Given the description of an element on the screen output the (x, y) to click on. 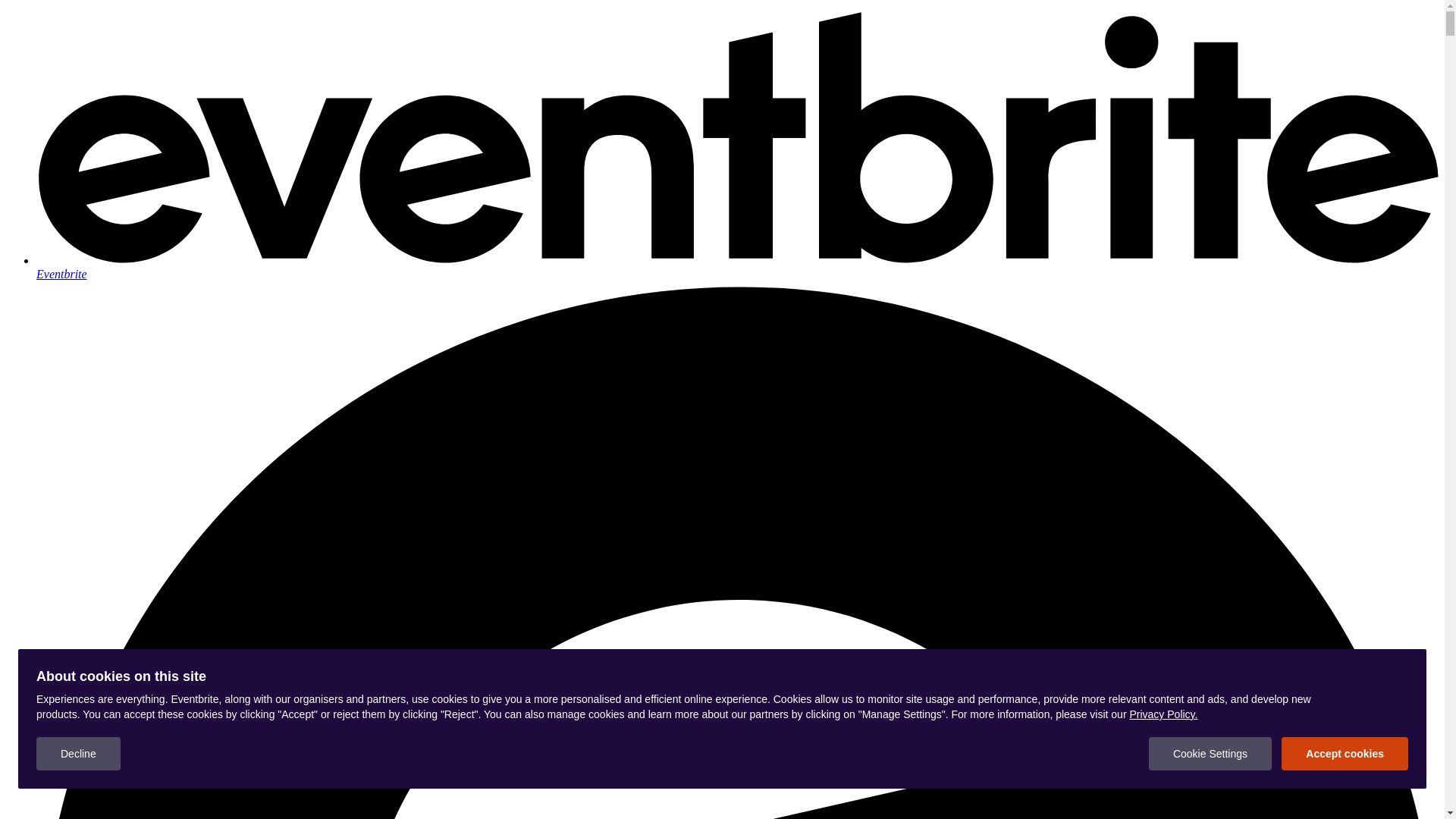
Eventbrite Element type: text (737, 267)
Decline Element type: text (78, 753)
Accept cookies Element type: text (1344, 753)
Cookie Settings Element type: text (1209, 753)
Privacy Policy. Element type: text (1163, 714)
